Given the description of an element on the screen output the (x, y) to click on. 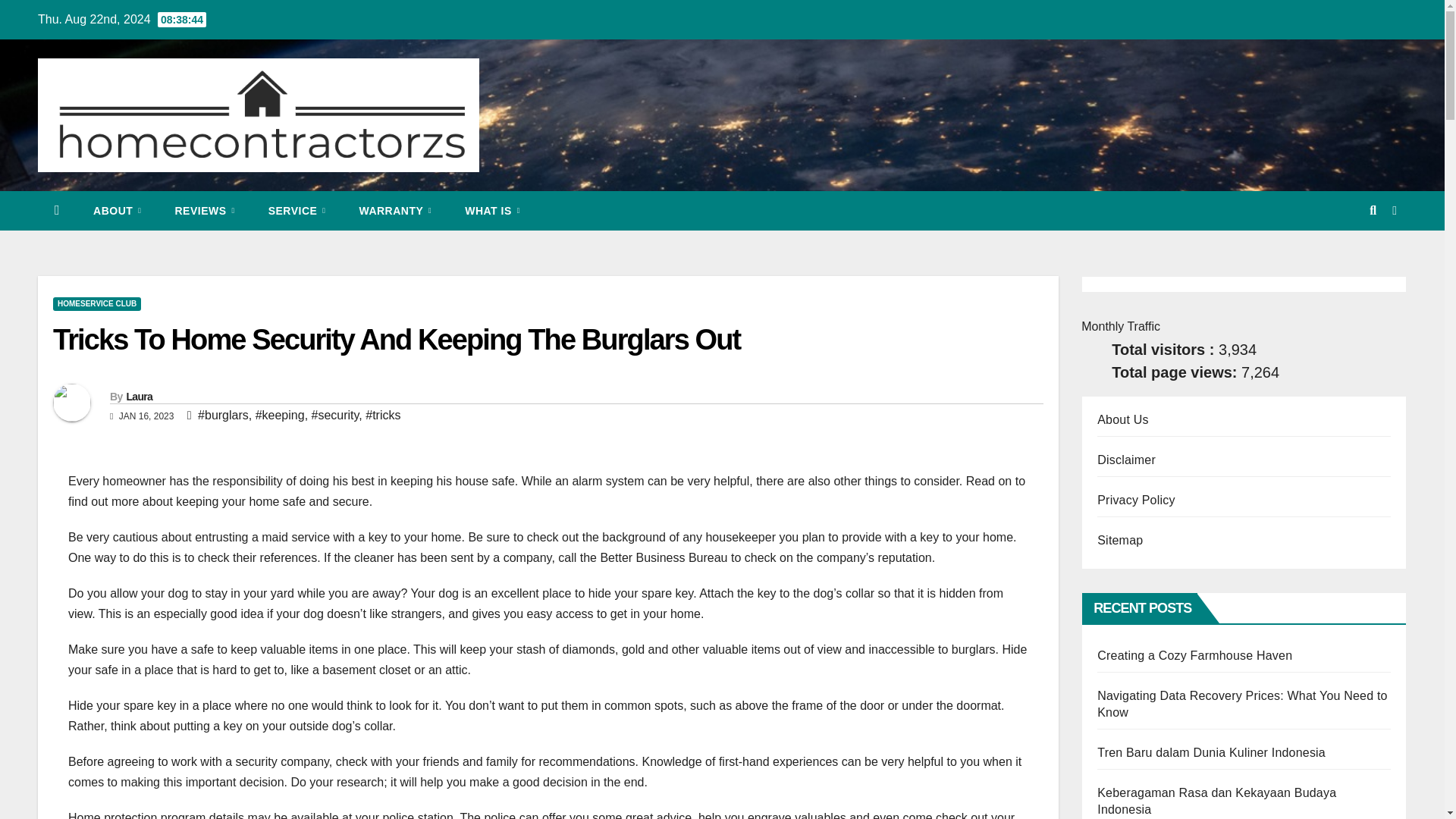
WHAT IS (492, 210)
WARRANTY (395, 210)
Service (296, 210)
ABOUT (117, 210)
SERVICE (296, 210)
About (117, 210)
HOMESERVICE CLUB (96, 304)
Tricks To Home Security And Keeping The Burglars Out (395, 339)
Reviews (203, 210)
REVIEWS (203, 210)
